Given the description of an element on the screen output the (x, y) to click on. 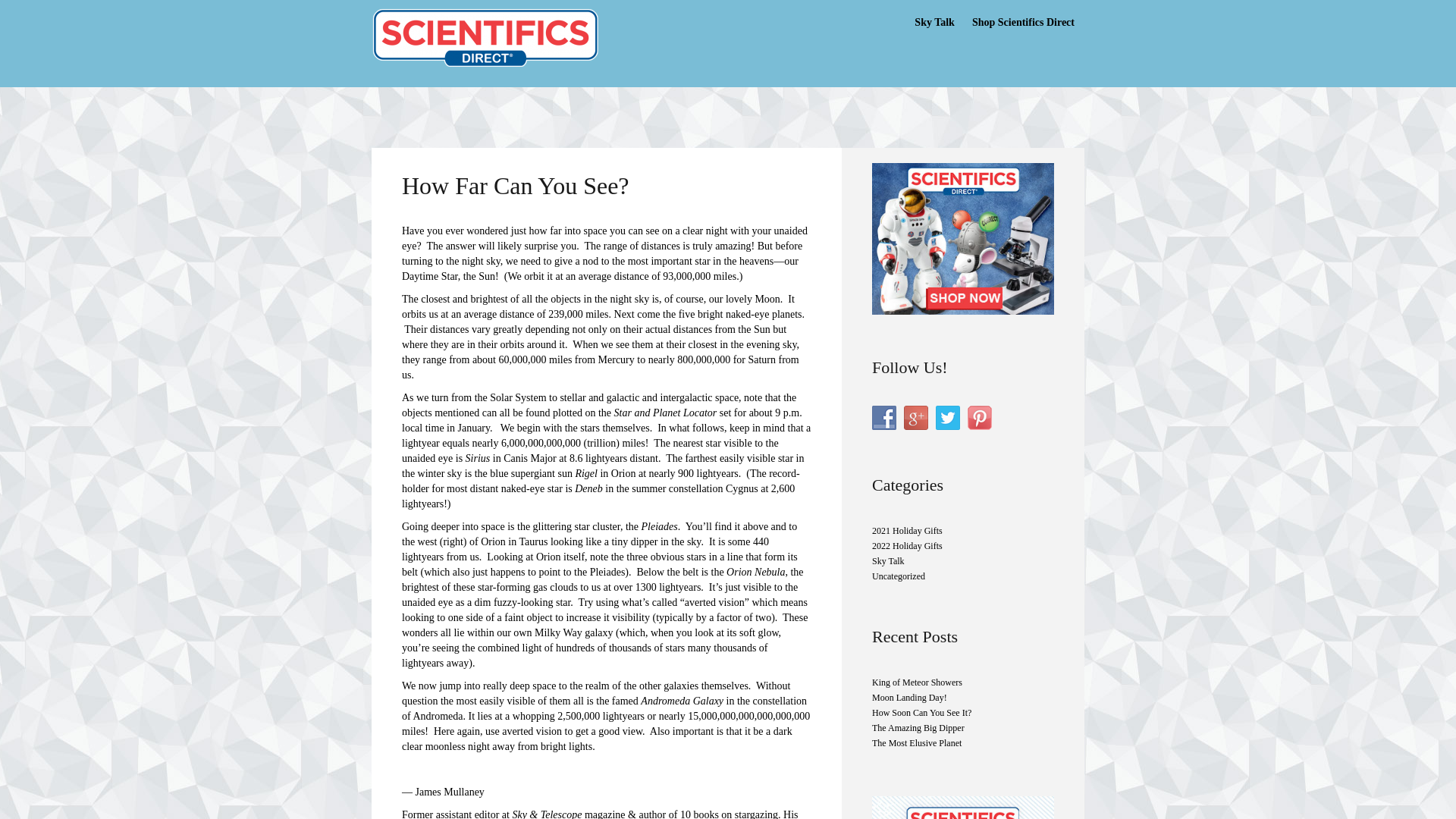
How Soon Can You See It? (921, 712)
The Amazing Big Dipper (917, 727)
Shop Scientifics Direct (1023, 22)
Sky Talk (888, 561)
Follow Us on Facebook (884, 417)
The Most Elusive Planet (916, 742)
Follow Us on Pinterest (979, 417)
Moon Landing Day! (909, 697)
Follow Us on Twitter (947, 417)
2022 Holiday Gifts (907, 545)
Sky Talk (934, 22)
Scientifics Online Blog (484, 34)
King of Meteor Showers (917, 682)
